Given the description of an element on the screen output the (x, y) to click on. 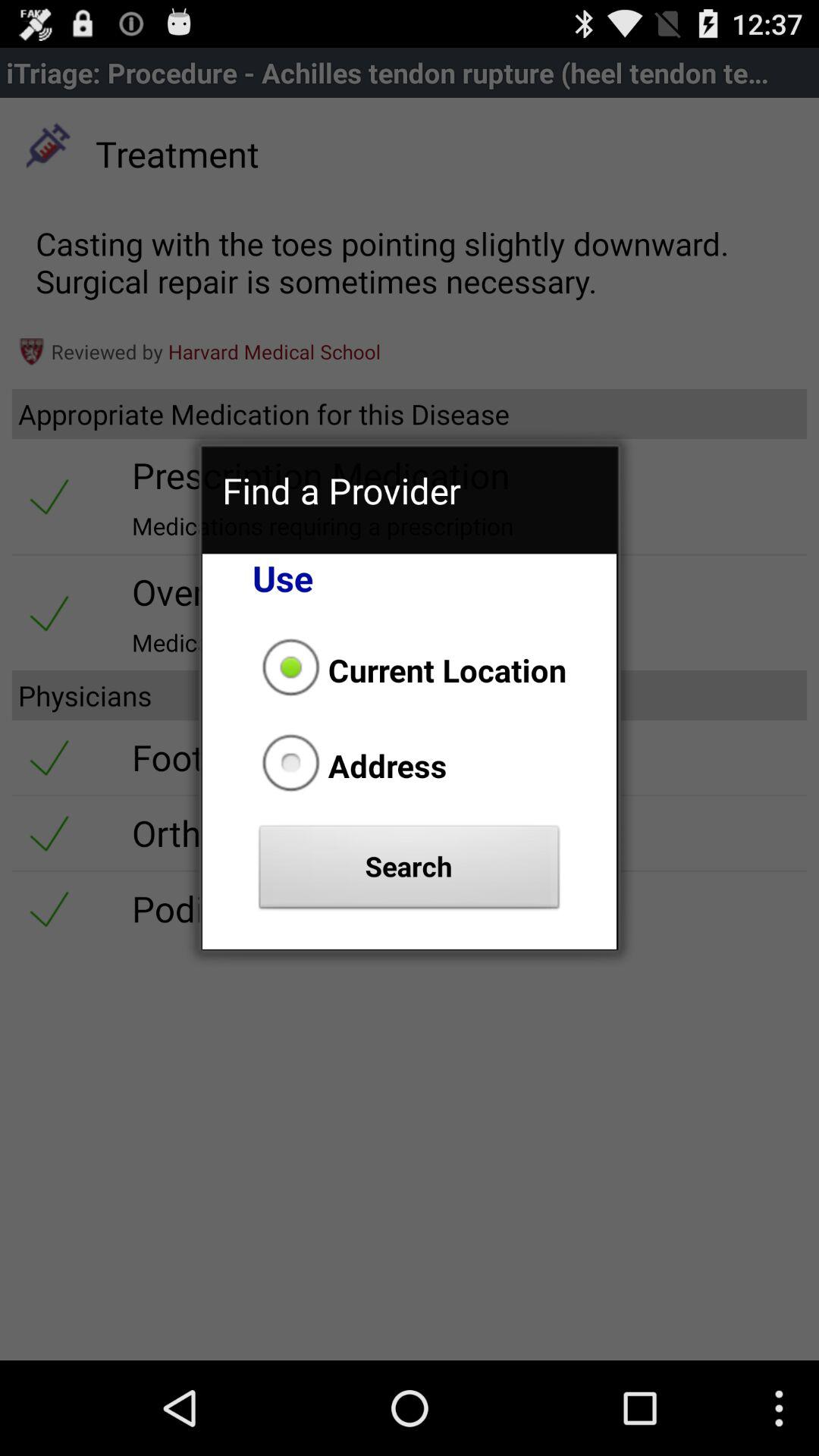
turn on the address radio button (349, 765)
